Given the description of an element on the screen output the (x, y) to click on. 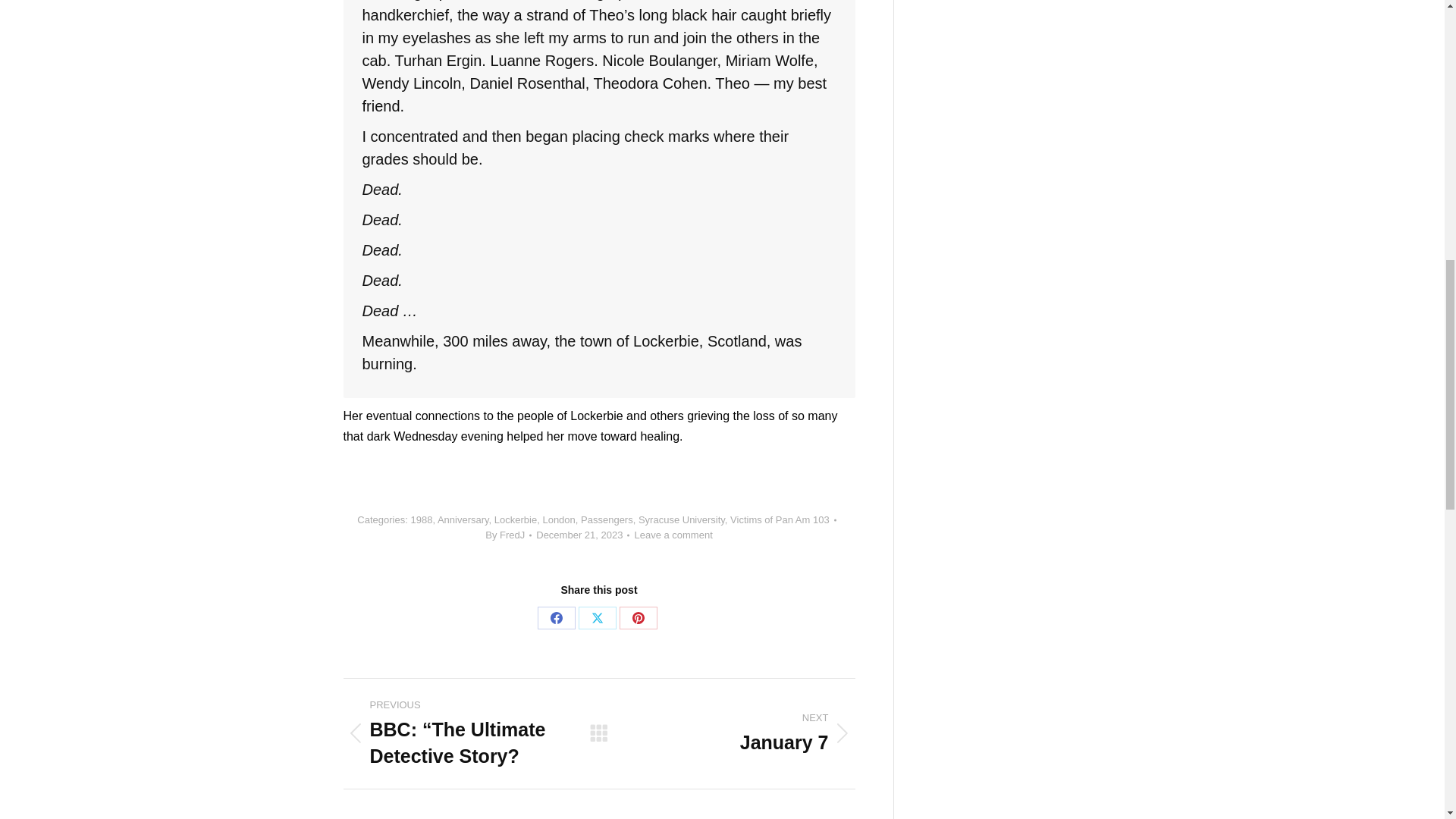
X (596, 617)
Pinterest (639, 617)
1:35 pm (581, 534)
View all posts by FredJ (507, 534)
Facebook (556, 617)
